Given the description of an element on the screen output the (x, y) to click on. 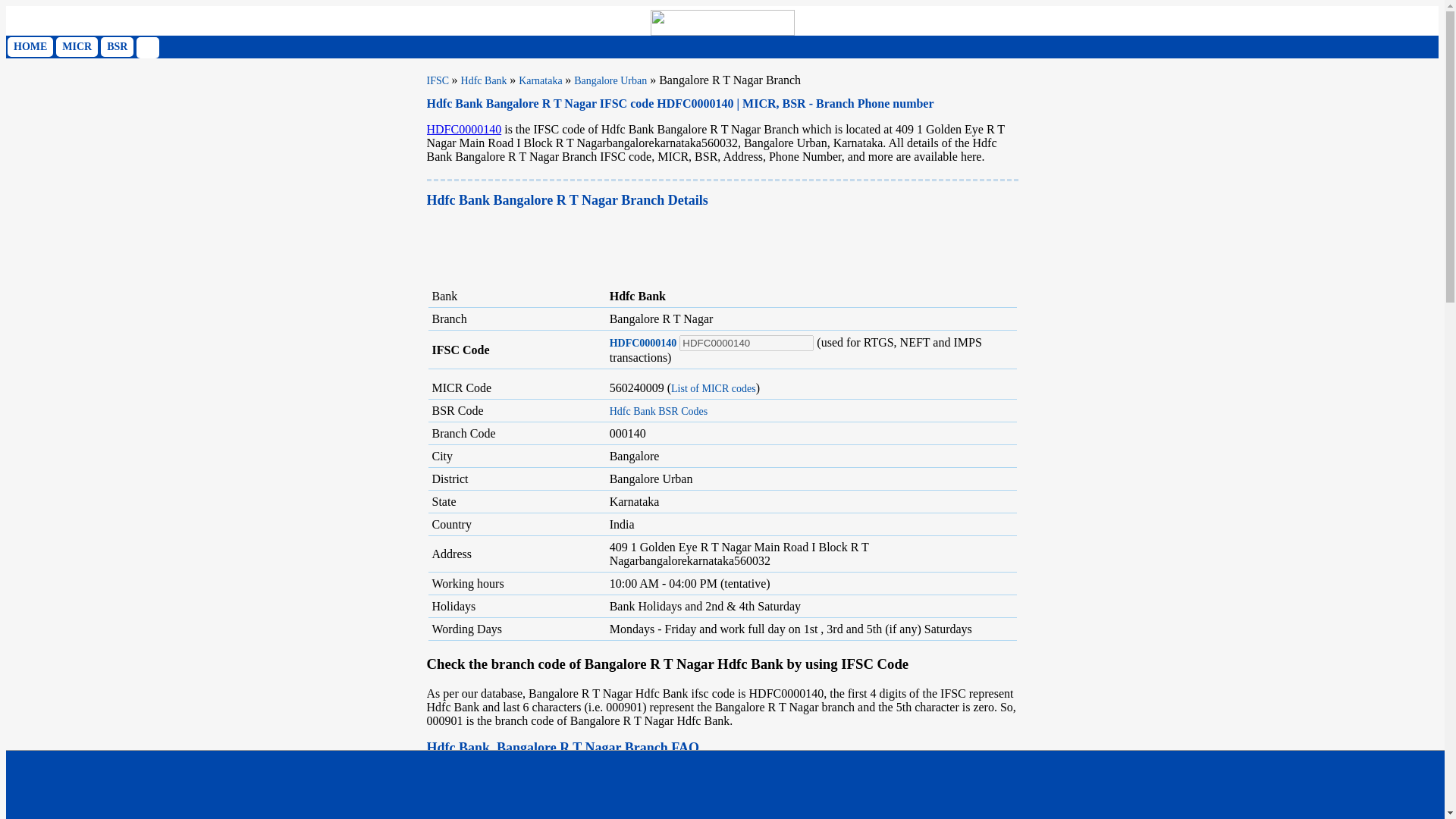
HOME (29, 46)
IFSC (438, 80)
HDFC0000140 (746, 342)
Bangalore Urban (609, 80)
Hdfc Bank (486, 80)
HDFC0000140 (643, 342)
HDFC0000140 (463, 128)
Karnataka (541, 80)
Hdfc Bank BSR Codes (658, 410)
List of MICR codes (713, 388)
